Given the description of an element on the screen output the (x, y) to click on. 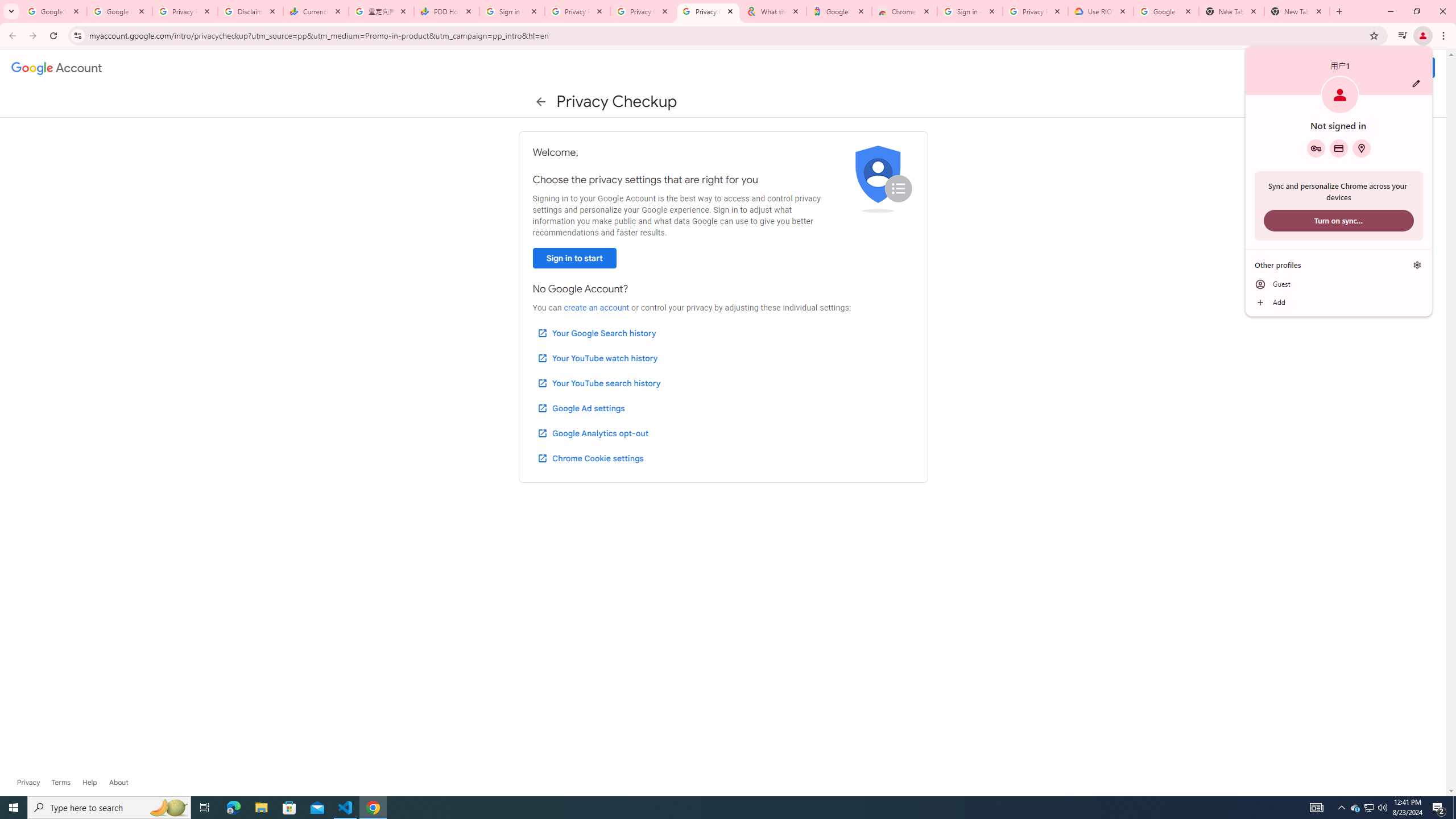
Your YouTube watch history (597, 358)
Action Center, 2 new notifications (1439, 807)
Show desktop (1454, 807)
Privacy Checkup (708, 11)
Manage profiles (1417, 265)
Addresses and more (1361, 148)
File Explorer (261, 807)
